Given the description of an element on the screen output the (x, y) to click on. 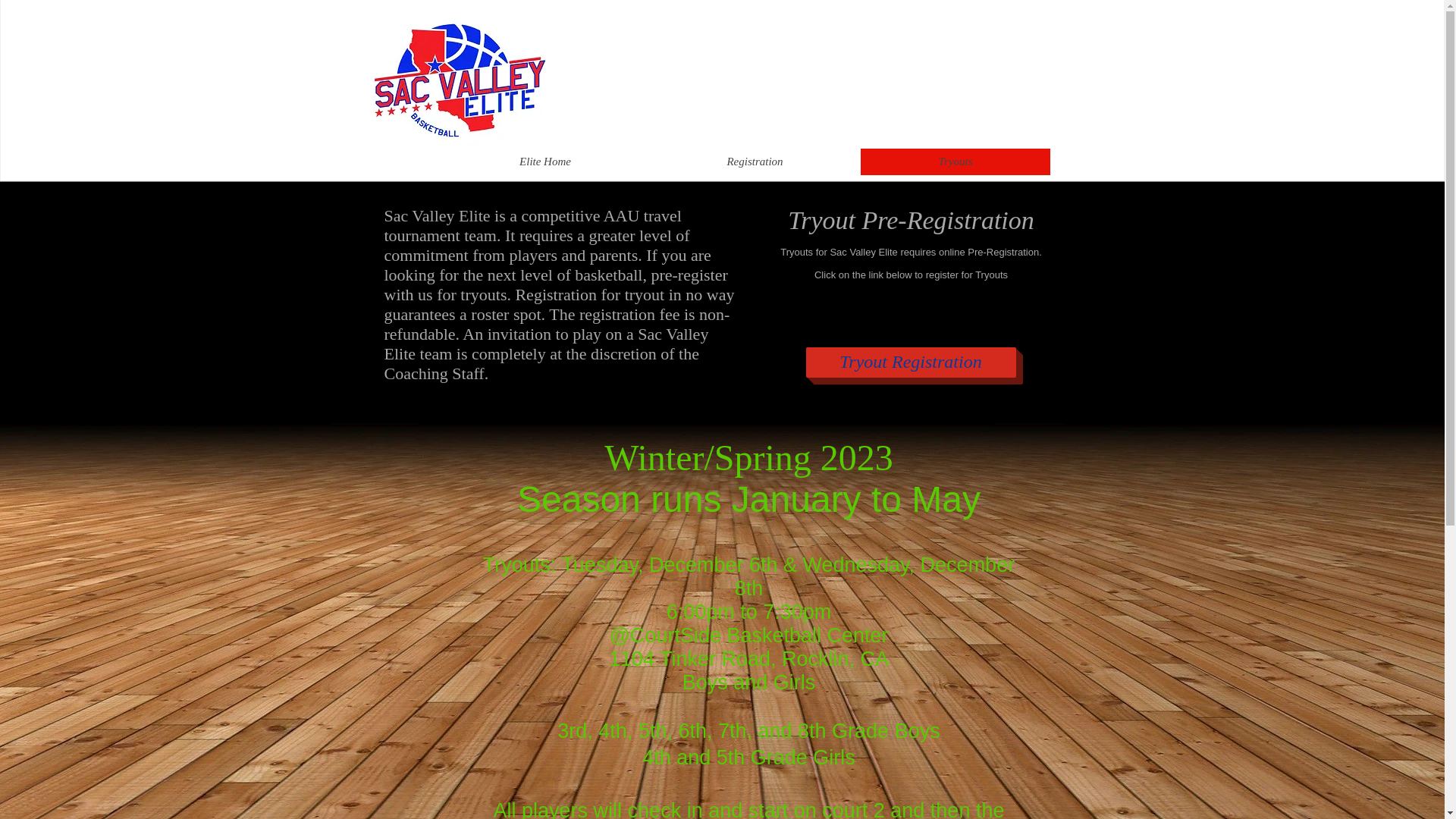
Tryouts (954, 161)
Registration (754, 161)
Elite Home (544, 161)
Tryout Registration (909, 362)
Hotshots Elite Transparent.png (458, 80)
